Given the description of an element on the screen output the (x, y) to click on. 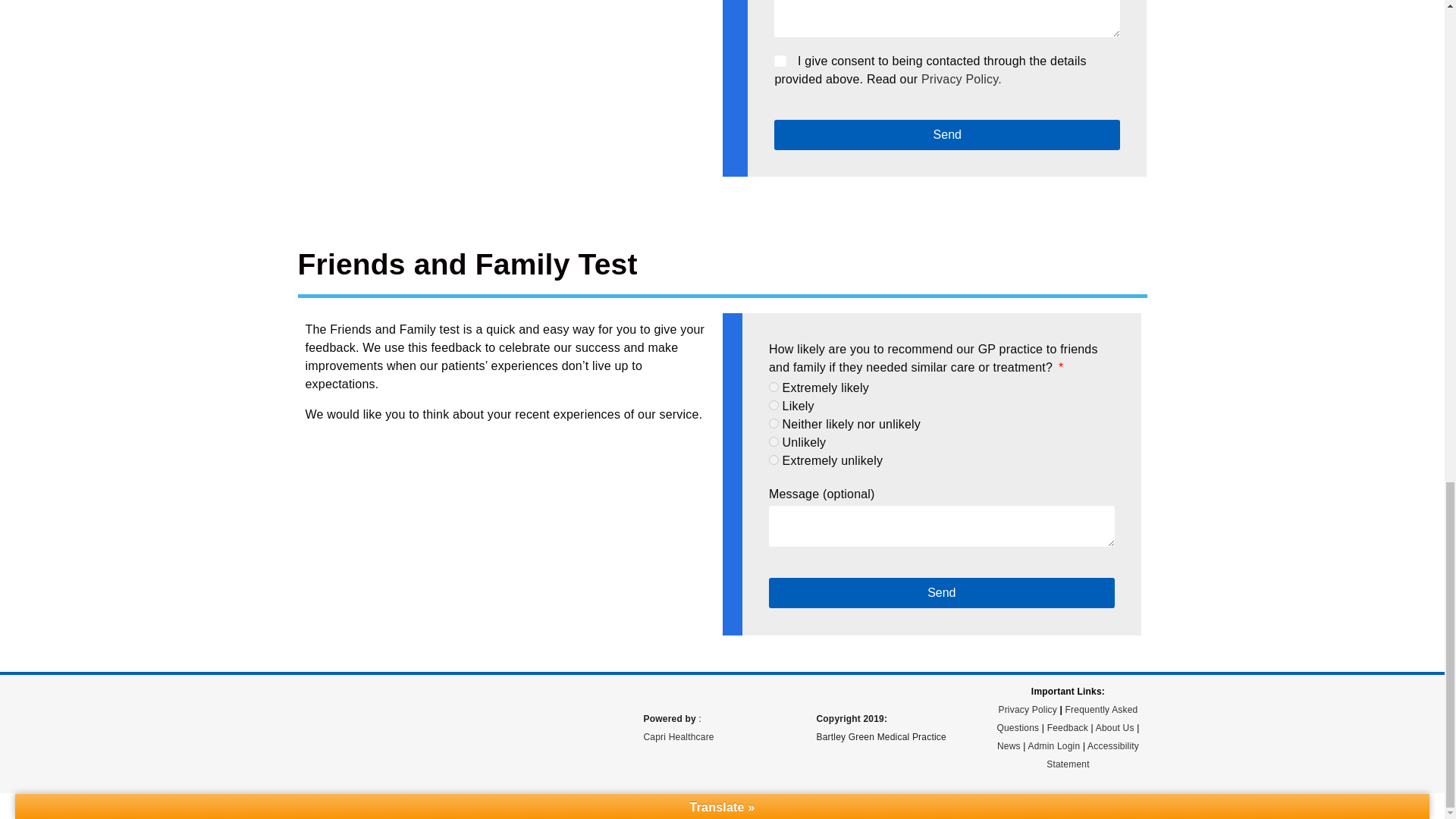
Likely (773, 405)
Unlikely (773, 441)
Extremely unlikely (773, 460)
on (780, 60)
Neither likely nor unlikely (773, 423)
Extremely likely (773, 387)
